Given the description of an element on the screen output the (x, y) to click on. 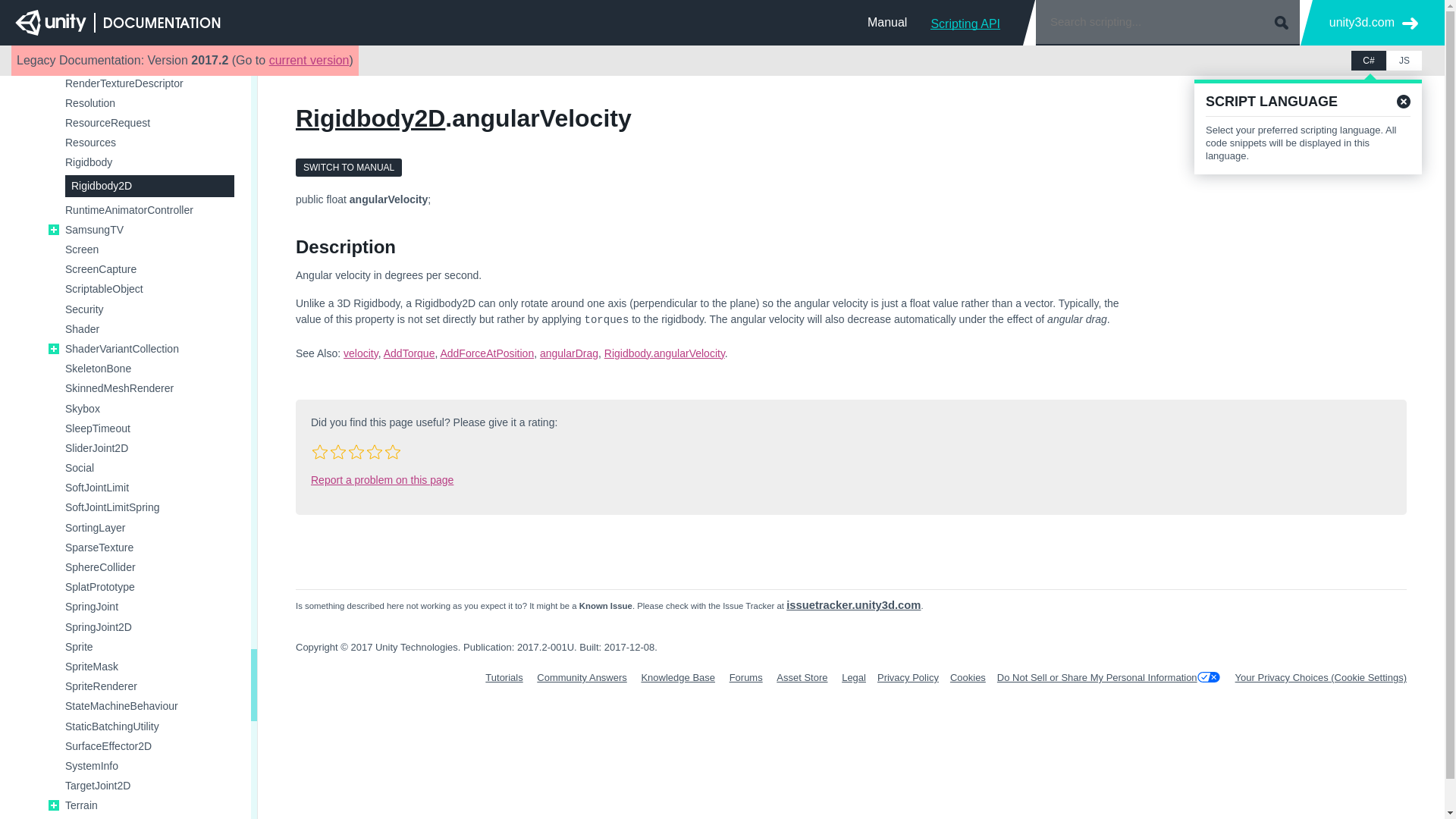
current version (309, 60)
Leave feedback (1238, 142)
Go to Rigidbody2D Component in the Manual (348, 167)
Scripting API (965, 22)
unity3d.com (1373, 22)
Manual (887, 22)
